Given the description of an element on the screen output the (x, y) to click on. 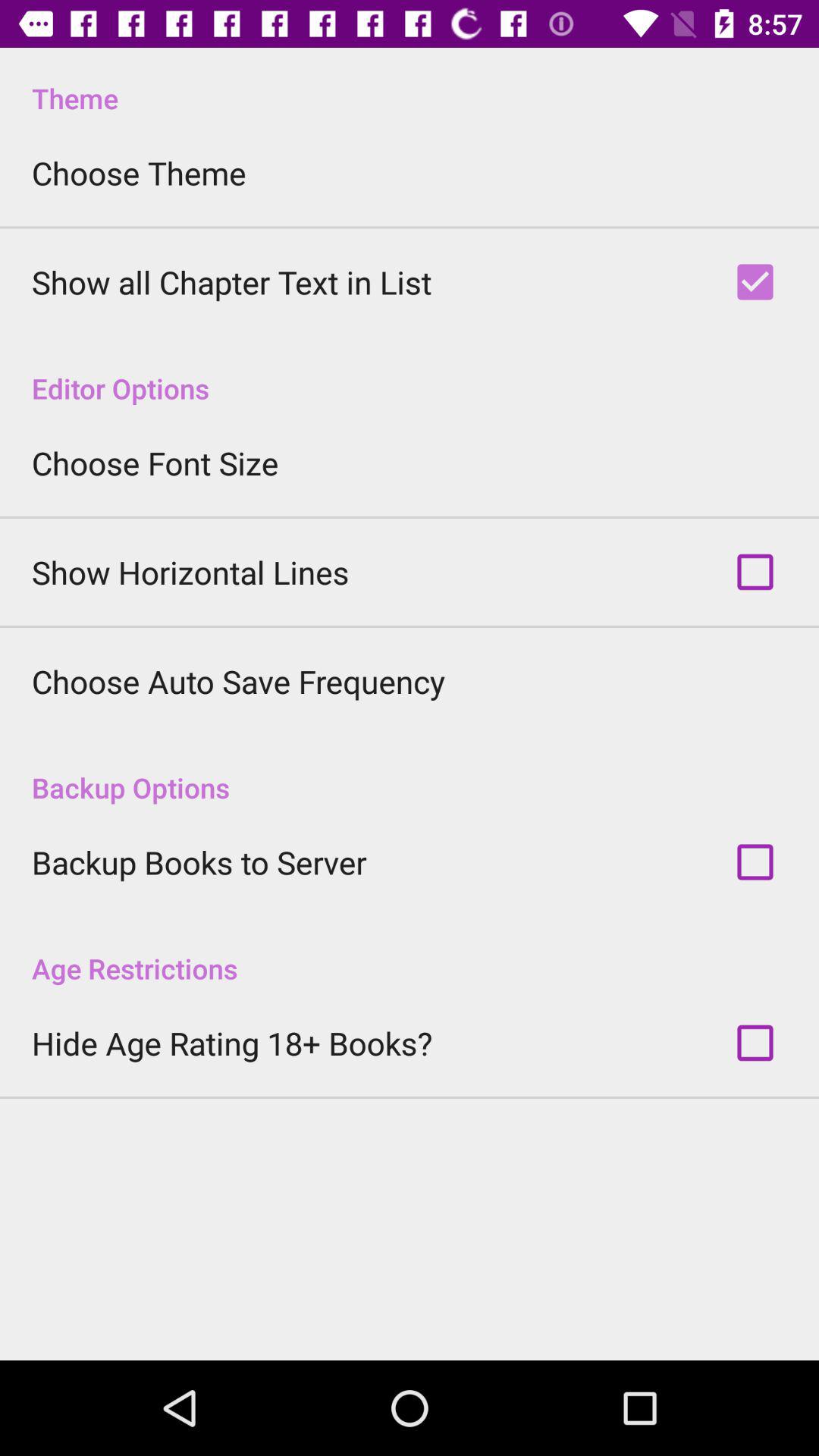
press the app below age restrictions icon (231, 1042)
